Given the description of an element on the screen output the (x, y) to click on. 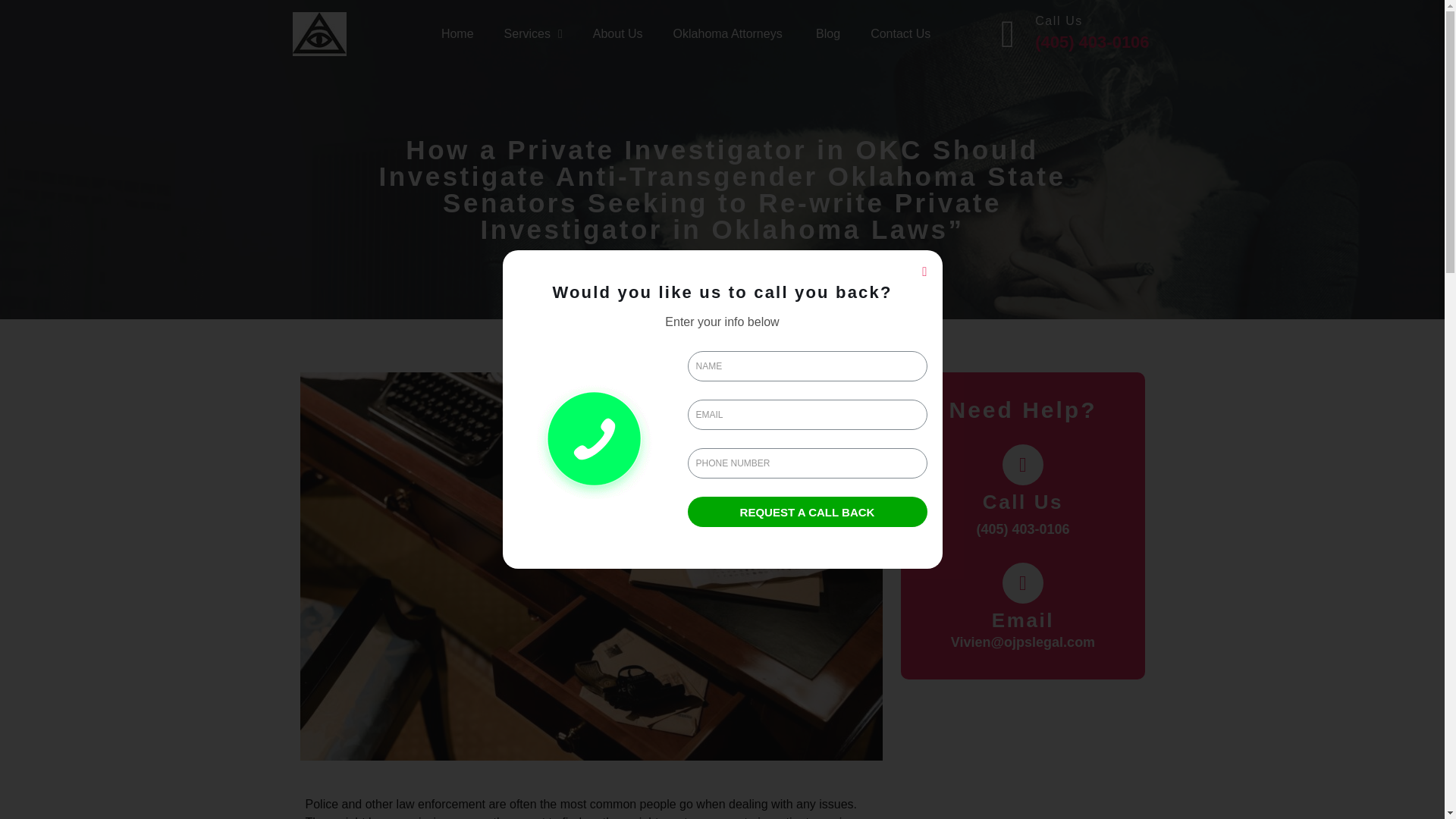
Blog (828, 33)
Oklahoma Attorneys  (730, 33)
About Us (618, 33)
Contact Us (900, 33)
Services (533, 33)
Home (457, 33)
